Given the description of an element on the screen output the (x, y) to click on. 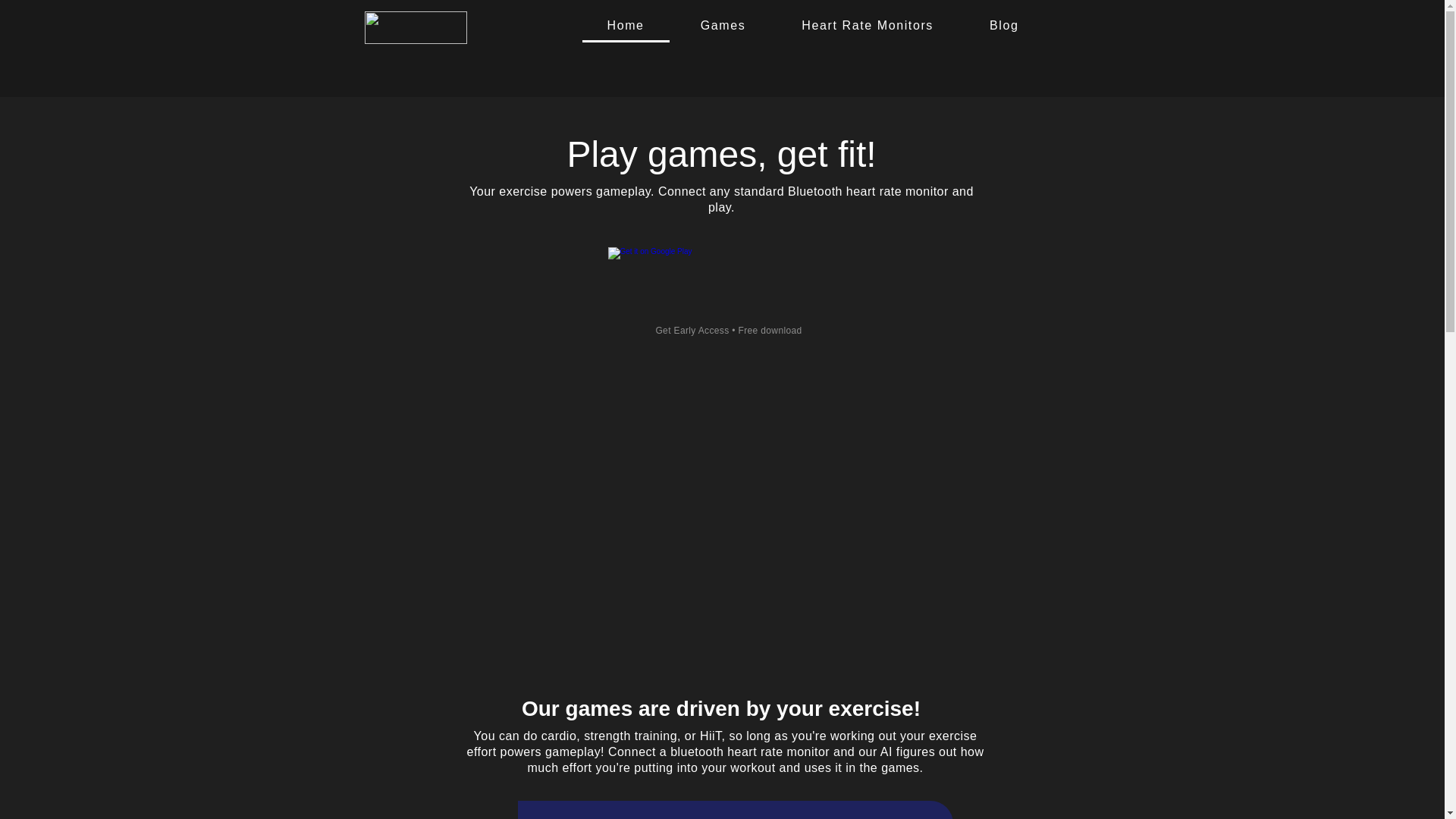
standard Bluetooth heart rate monitor (841, 191)
Visit Google Play to download our games now! (729, 282)
Heart Rate Monitors (867, 26)
Games (723, 26)
Home (625, 26)
Blog (1003, 26)
